Given the description of an element on the screen output the (x, y) to click on. 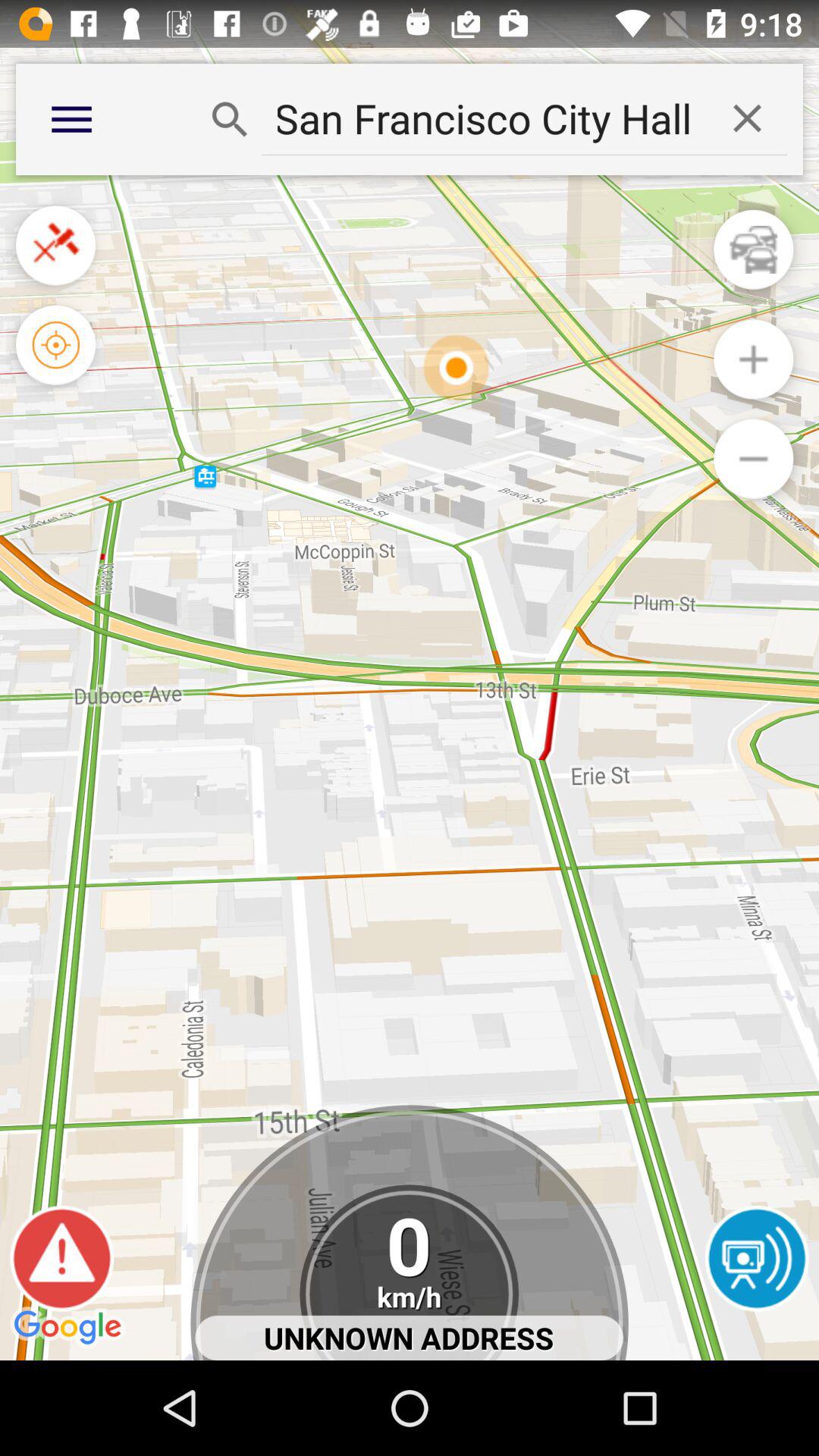
select the text called google (69, 1328)
search the place san francisco city hall (484, 118)
click on  the plus sign (753, 359)
click on the  button below  (753, 459)
select the more option on the top left corner (71, 119)
click on search button (229, 119)
